Given the description of an element on the screen output the (x, y) to click on. 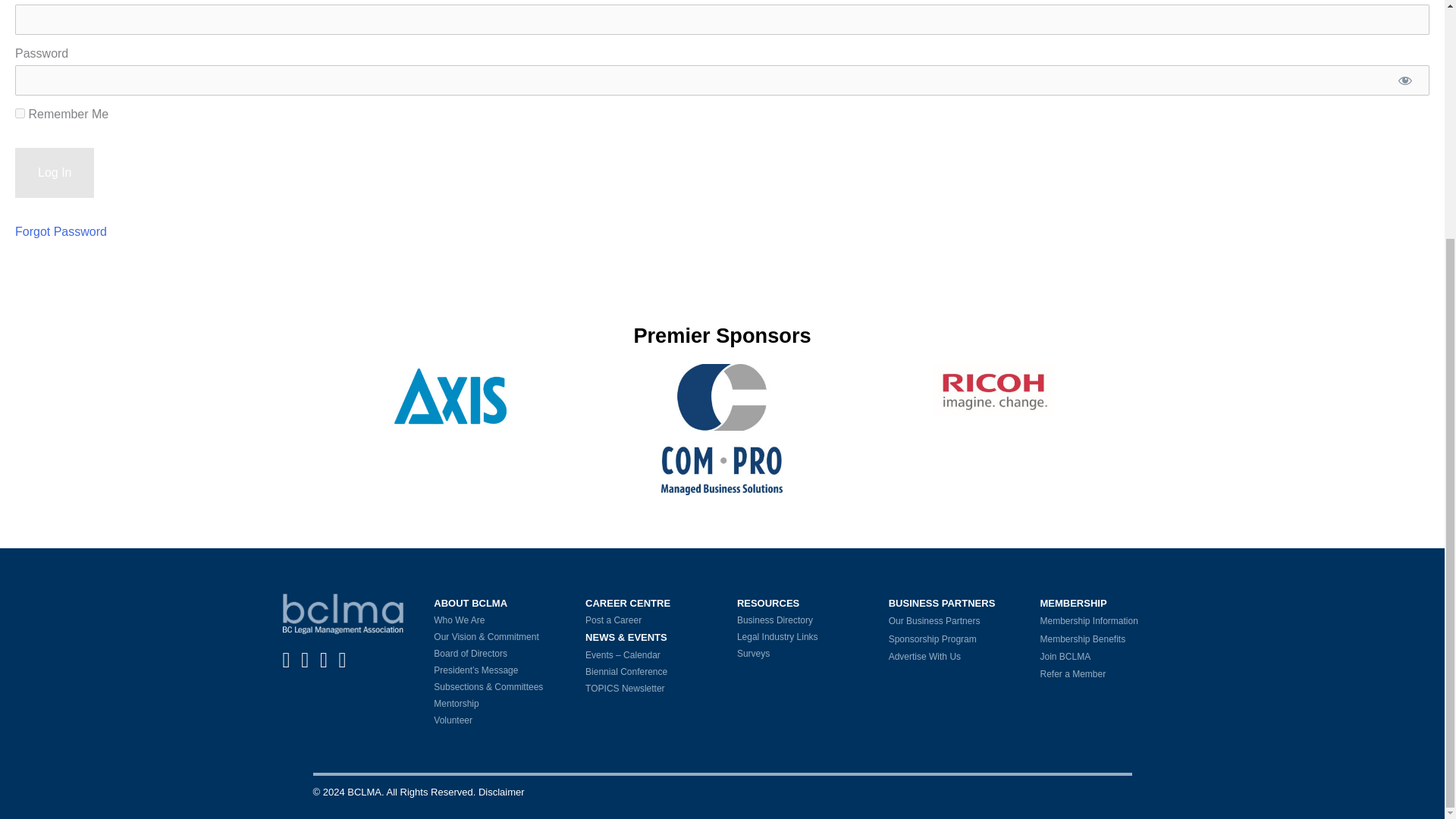
Ricoh Canada (993, 389)
forever (19, 112)
Com Pro Business Solutions Ltd. (722, 427)
Axis Insurance (450, 395)
Log In (54, 173)
bclma-logo-footer (342, 613)
